Given the description of an element on the screen output the (x, y) to click on. 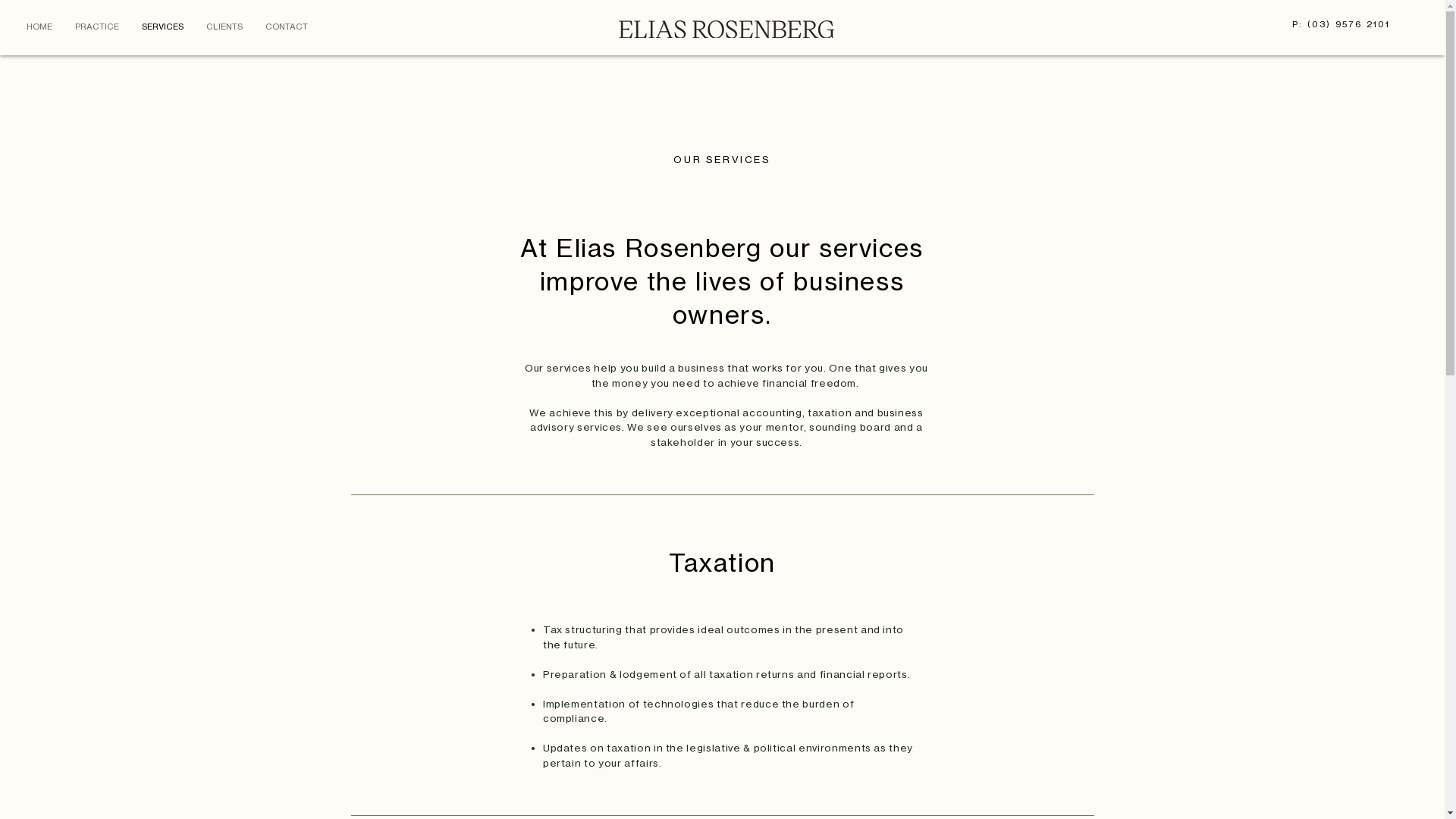
P: (03) 9576 2101 Element type: text (1341, 23)
CLIENTS Element type: text (224, 26)
HOME Element type: text (39, 26)
CONTACT Element type: text (286, 26)
SERVICES Element type: text (162, 26)
PRACTICE Element type: text (96, 26)
